Given the description of an element on the screen output the (x, y) to click on. 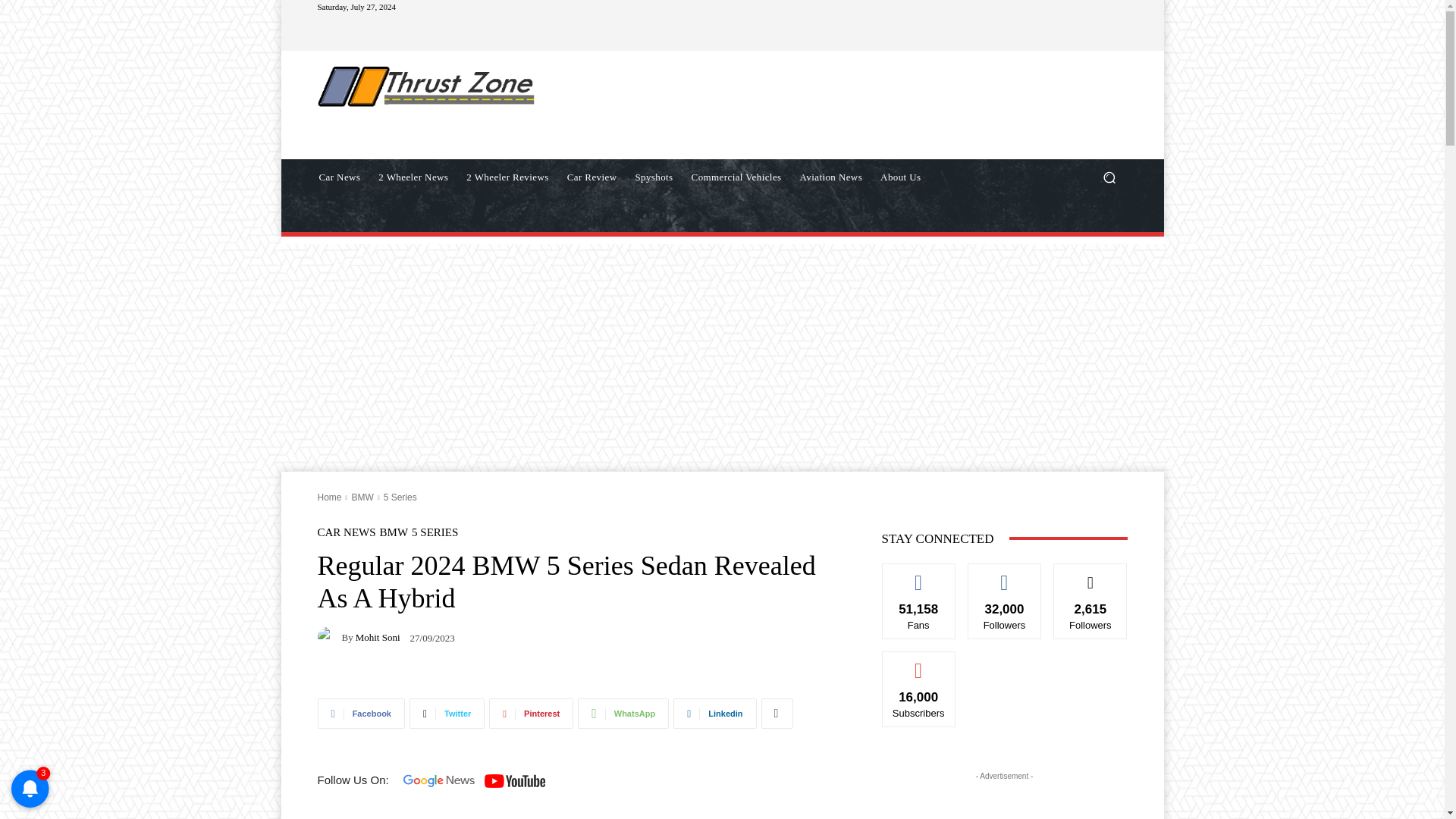
Car News (338, 176)
CAR NEWS (346, 532)
Spyshots (653, 176)
View all posts in 5 Series (400, 497)
Commercial Vehicles (736, 176)
WhatsApp (623, 713)
Facebook (360, 713)
5 Series (400, 497)
2 Wheeler Reviews (507, 176)
BMW (394, 532)
Advertisement (846, 104)
Aviation News (831, 176)
Home (328, 497)
Mohit Soni (377, 637)
